Given the description of an element on the screen output the (x, y) to click on. 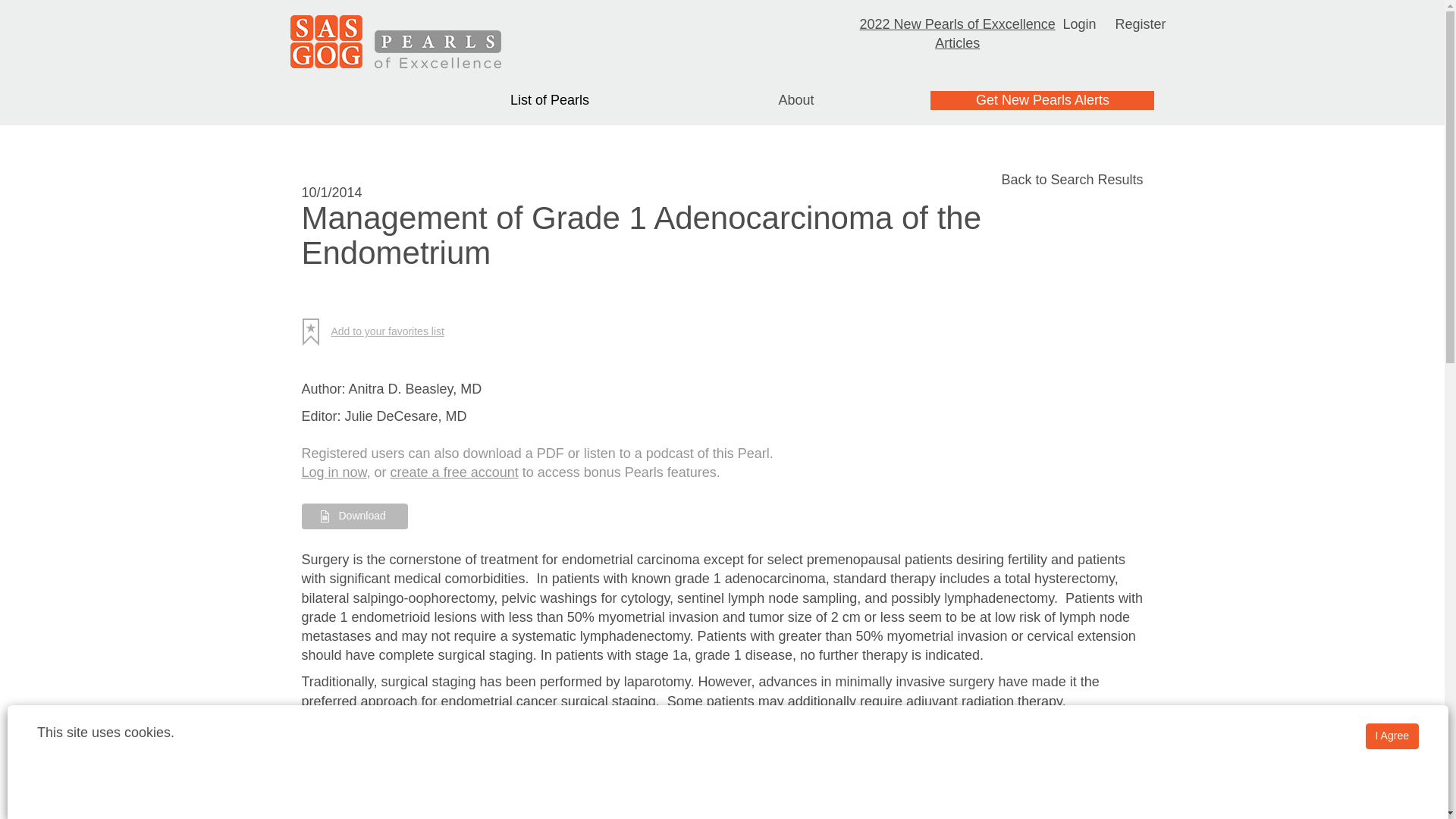
Login to Your Account (1079, 23)
List of Pearls (550, 99)
2022 New Pearls of Exxcellence Articles (957, 33)
Get New Pearls Alerts (1042, 99)
Back to Search Results (1071, 179)
Register (1140, 23)
I Agree (1391, 736)
Download (354, 516)
About (795, 99)
Log in now (333, 472)
create a free account (454, 472)
Login (1079, 23)
Add to your favorites list (377, 331)
